Given the description of an element on the screen output the (x, y) to click on. 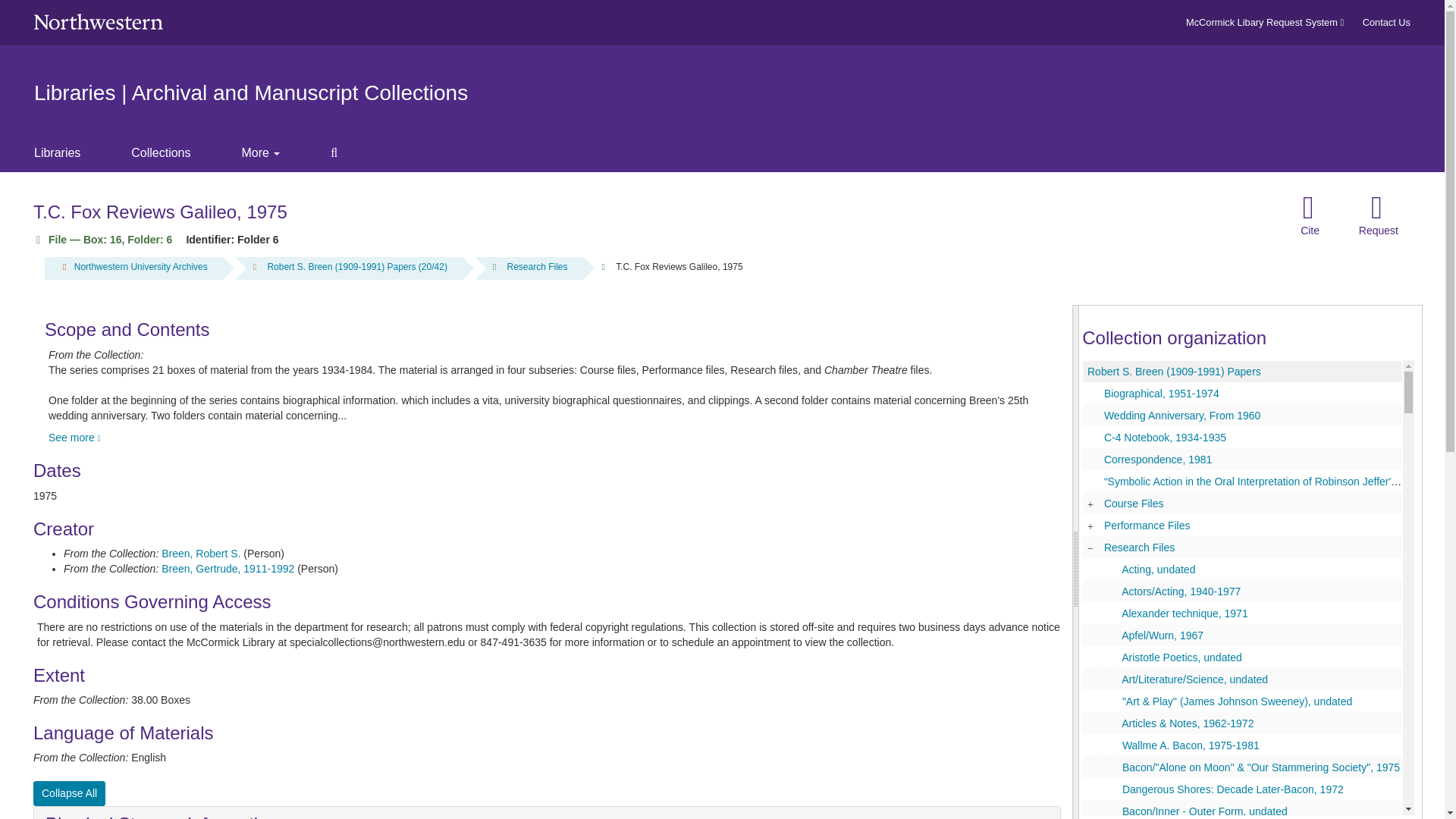
Performance Files (1242, 525)
See more (76, 437)
Breen, Robert S. (200, 553)
Page Actions (1130, 215)
Search all Archival and Manuscript Collections (346, 152)
Research Files (536, 266)
Correspondence, 1981 (1157, 459)
Wedding Anniversary (1242, 414)
Request (1378, 215)
Research Files (1242, 546)
Collections (173, 152)
Collapse All (68, 793)
Aristotle Poetics (1242, 657)
Request (1378, 215)
More (272, 152)
